Given the description of an element on the screen output the (x, y) to click on. 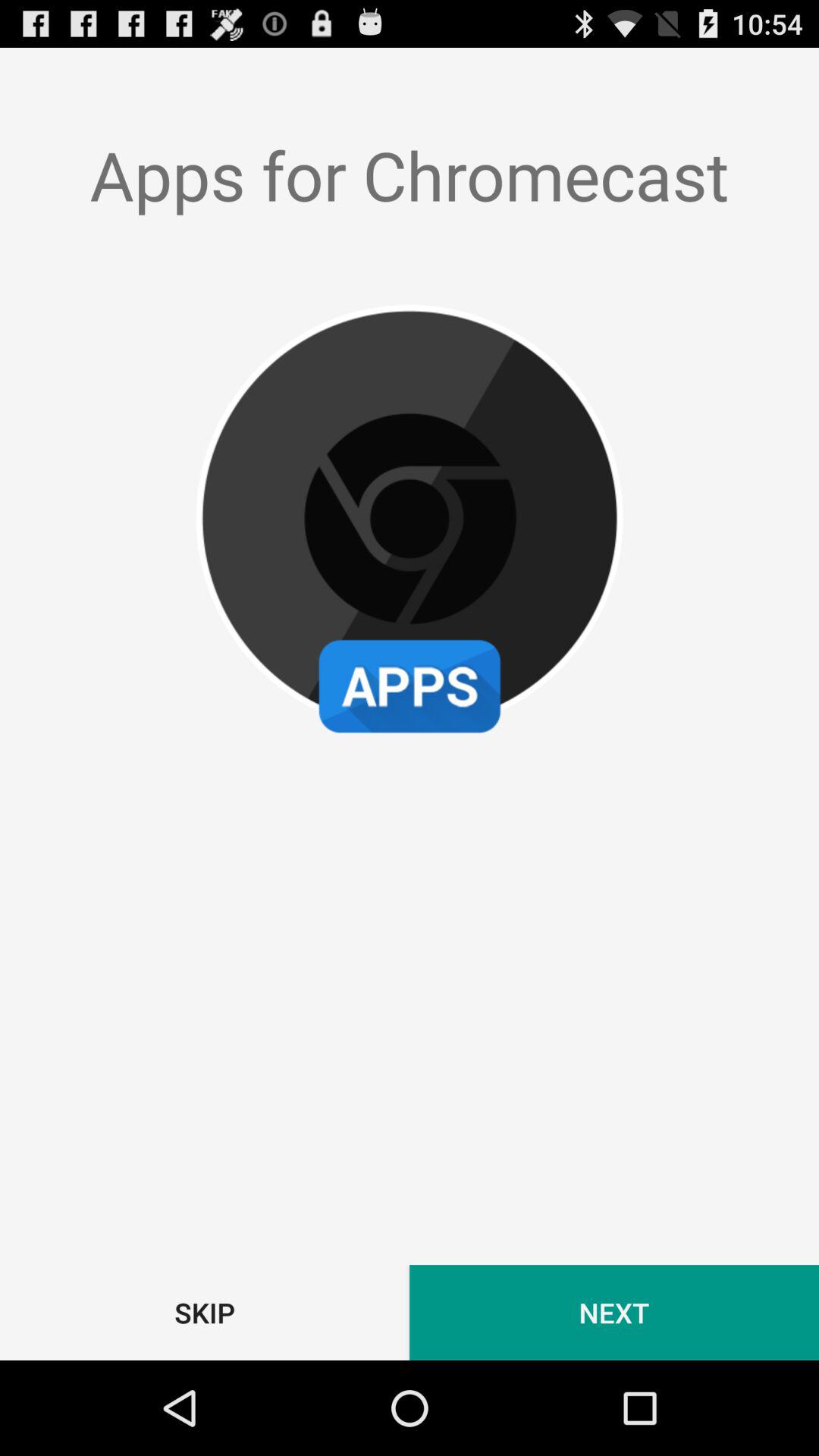
click the item next to the skip (614, 1312)
